Given the description of an element on the screen output the (x, y) to click on. 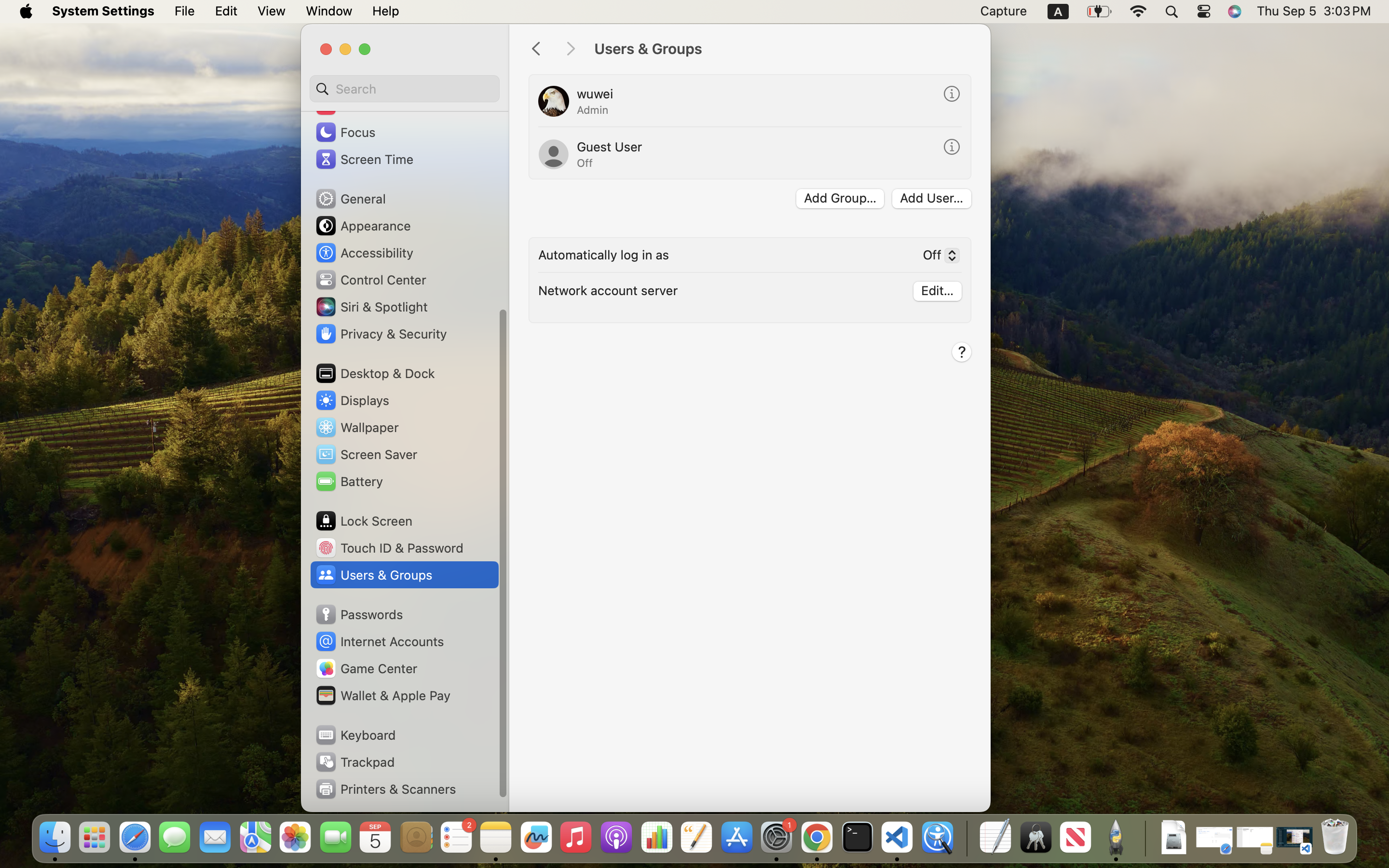
Game Center Element type: AXStaticText (365, 667)
Wallpaper Element type: AXStaticText (356, 426)
Appearance Element type: AXStaticText (362, 225)
Displays Element type: AXStaticText (351, 399)
Privacy & Security Element type: AXStaticText (380, 333)
